Given the description of an element on the screen output the (x, y) to click on. 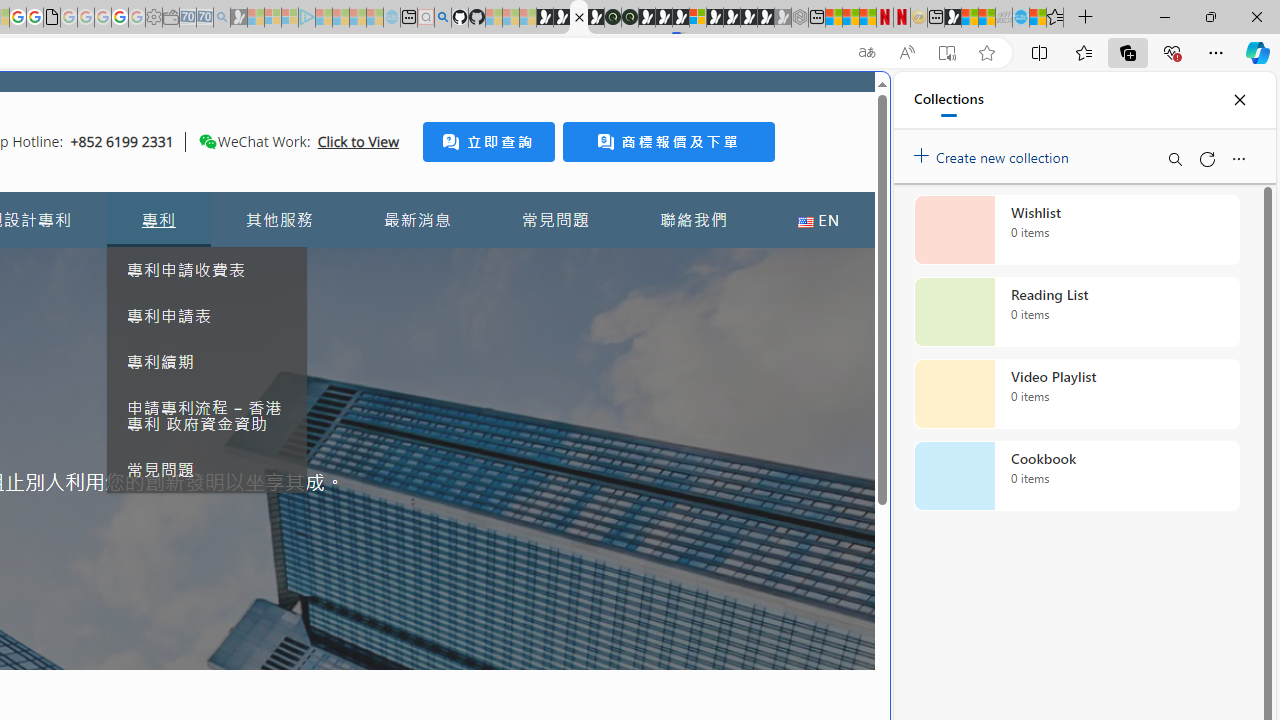
Search or enter web address (343, 191)
Class: desktop (207, 141)
Future Focus Report 2024 (629, 17)
